Given the description of an element on the screen output the (x, y) to click on. 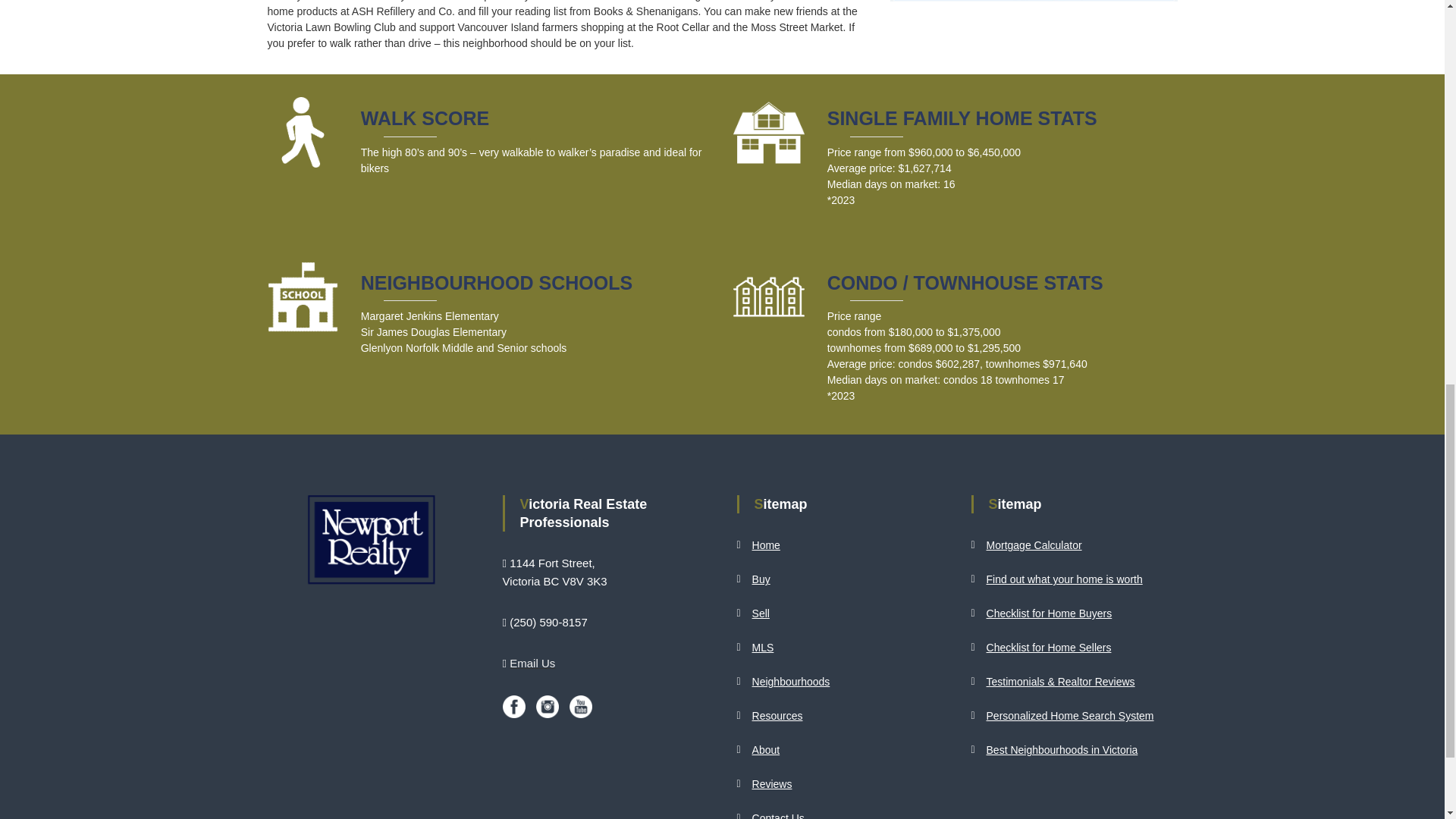
MLS (763, 647)
Sell (761, 613)
Contact Us (778, 815)
Checklist for Home Buyers (1049, 613)
Mortgage Calculator (1034, 544)
Home (766, 544)
Buy (761, 579)
Best Neighbourhoods in Victoria (1062, 749)
Personalized Home Search System (1070, 715)
About (766, 749)
Neighbourhoods (790, 681)
Email Us (531, 662)
Find out what your home is worth (1064, 579)
Reviews (772, 784)
Resources (777, 715)
